Given the description of an element on the screen output the (x, y) to click on. 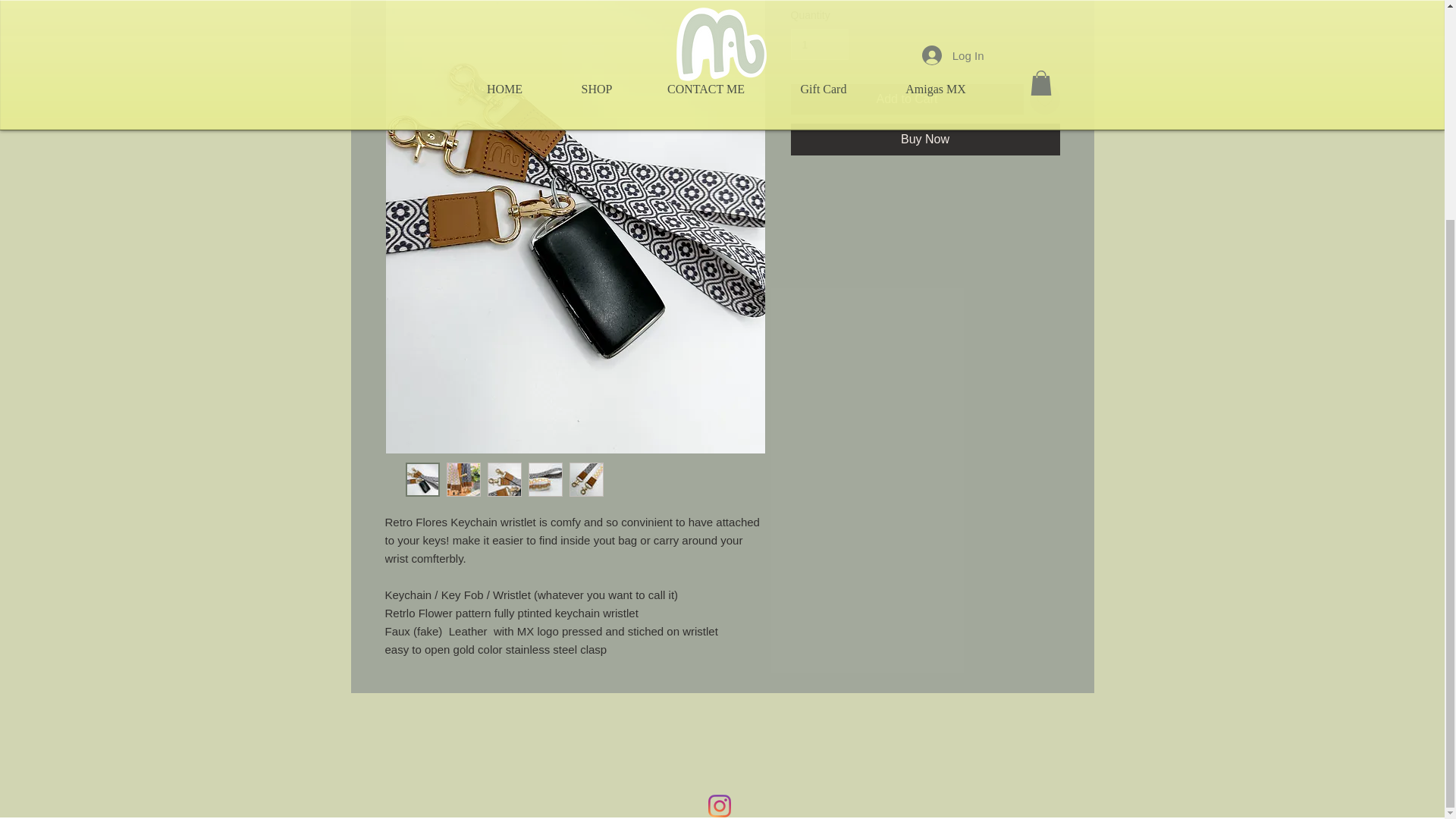
1 (818, 43)
Buy Now (924, 139)
Add to Cart (906, 99)
